Given the description of an element on the screen output the (x, y) to click on. 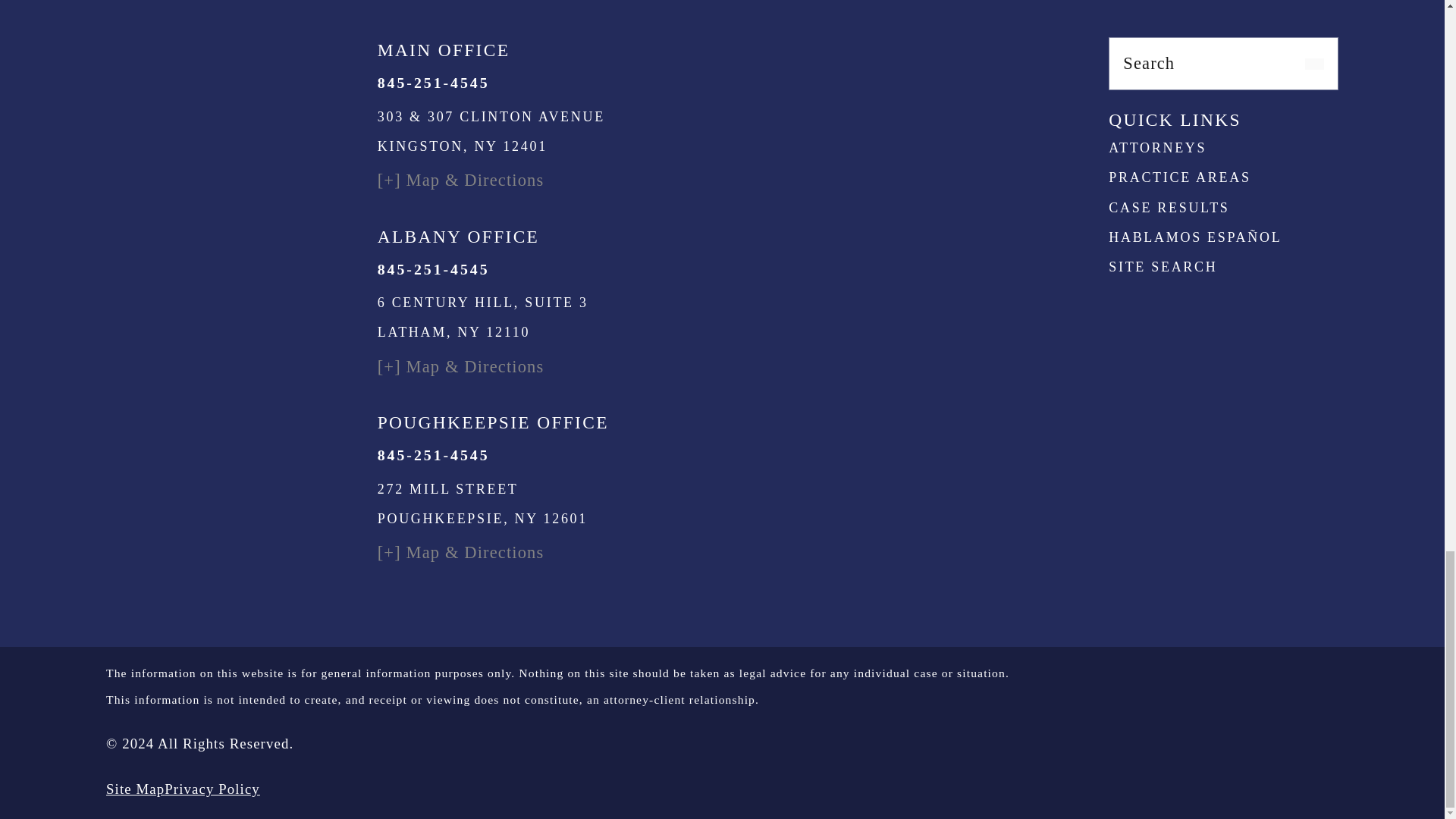
Twitter (1274, 98)
Facebook (1121, 98)
TikTok (1325, 98)
Instagram (1172, 98)
LinkedIn (1223, 98)
Search Icon (1313, 63)
Search Our Site (1313, 63)
